Given the description of an element on the screen output the (x, y) to click on. 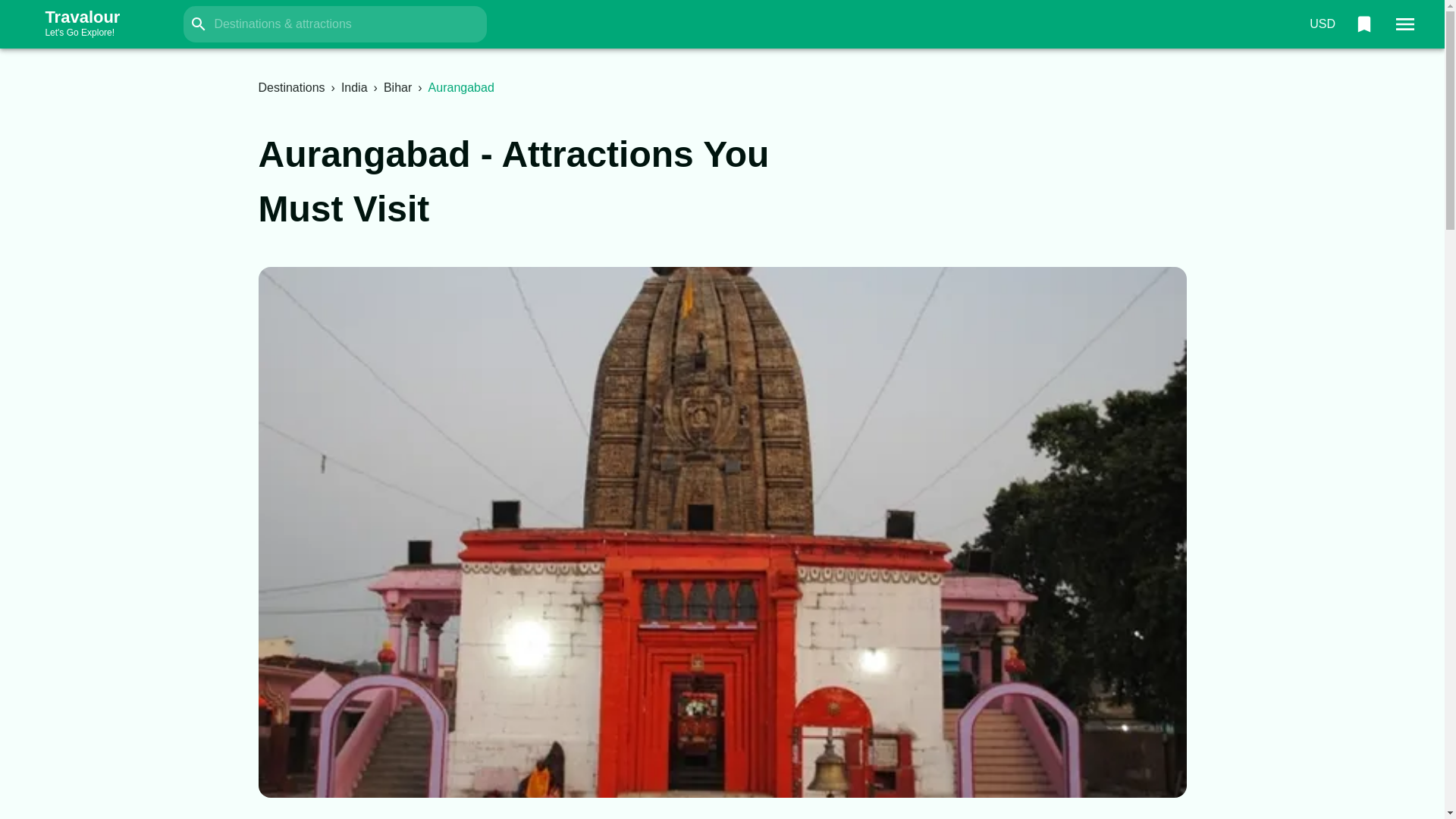
Destinations (290, 87)
USD (1321, 23)
Bihar (398, 87)
India (354, 87)
0 (97, 23)
